Given the description of an element on the screen output the (x, y) to click on. 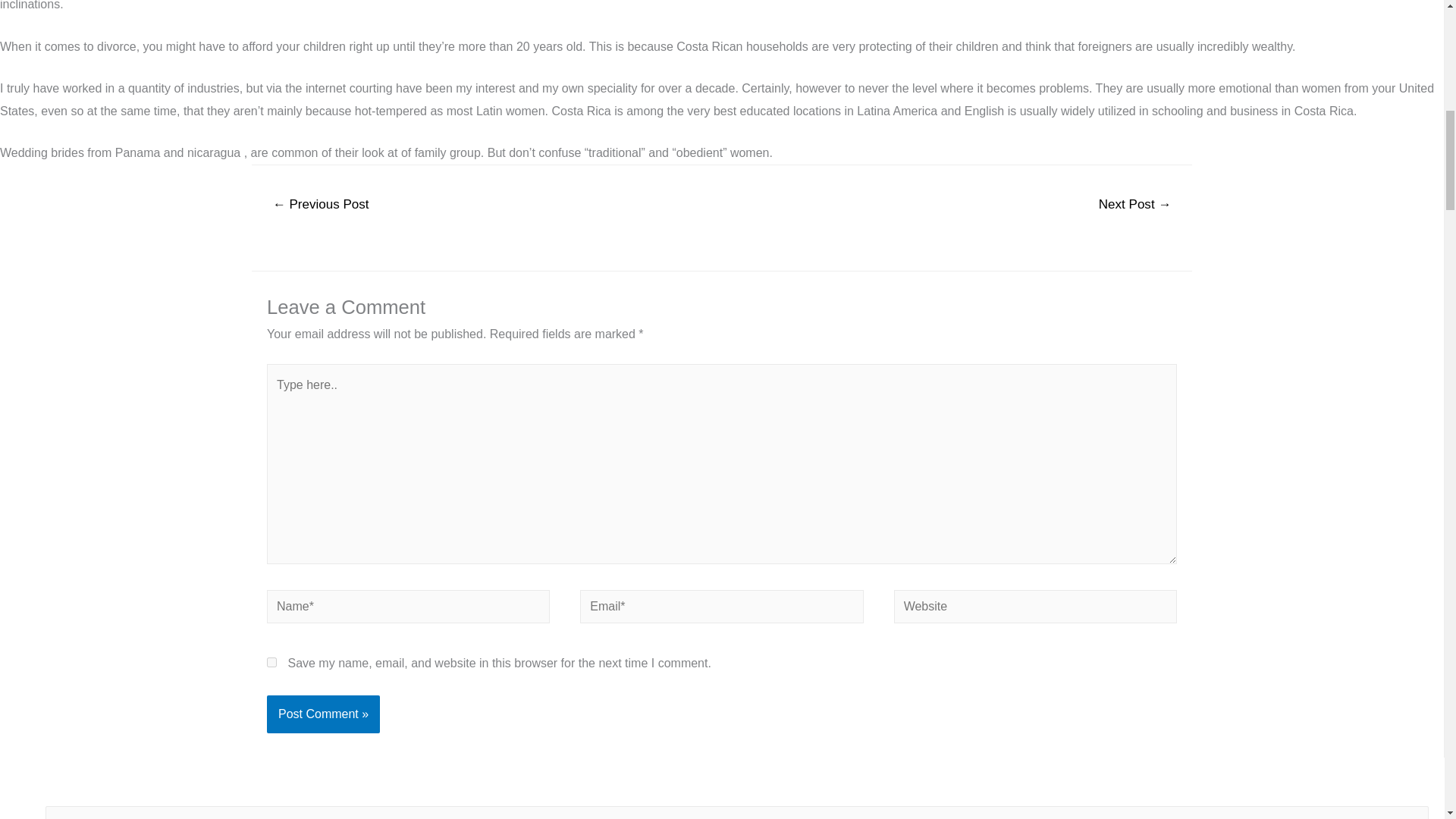
Search (1411, 812)
Search (1411, 812)
yes (271, 661)
